Given the description of an element on the screen output the (x, y) to click on. 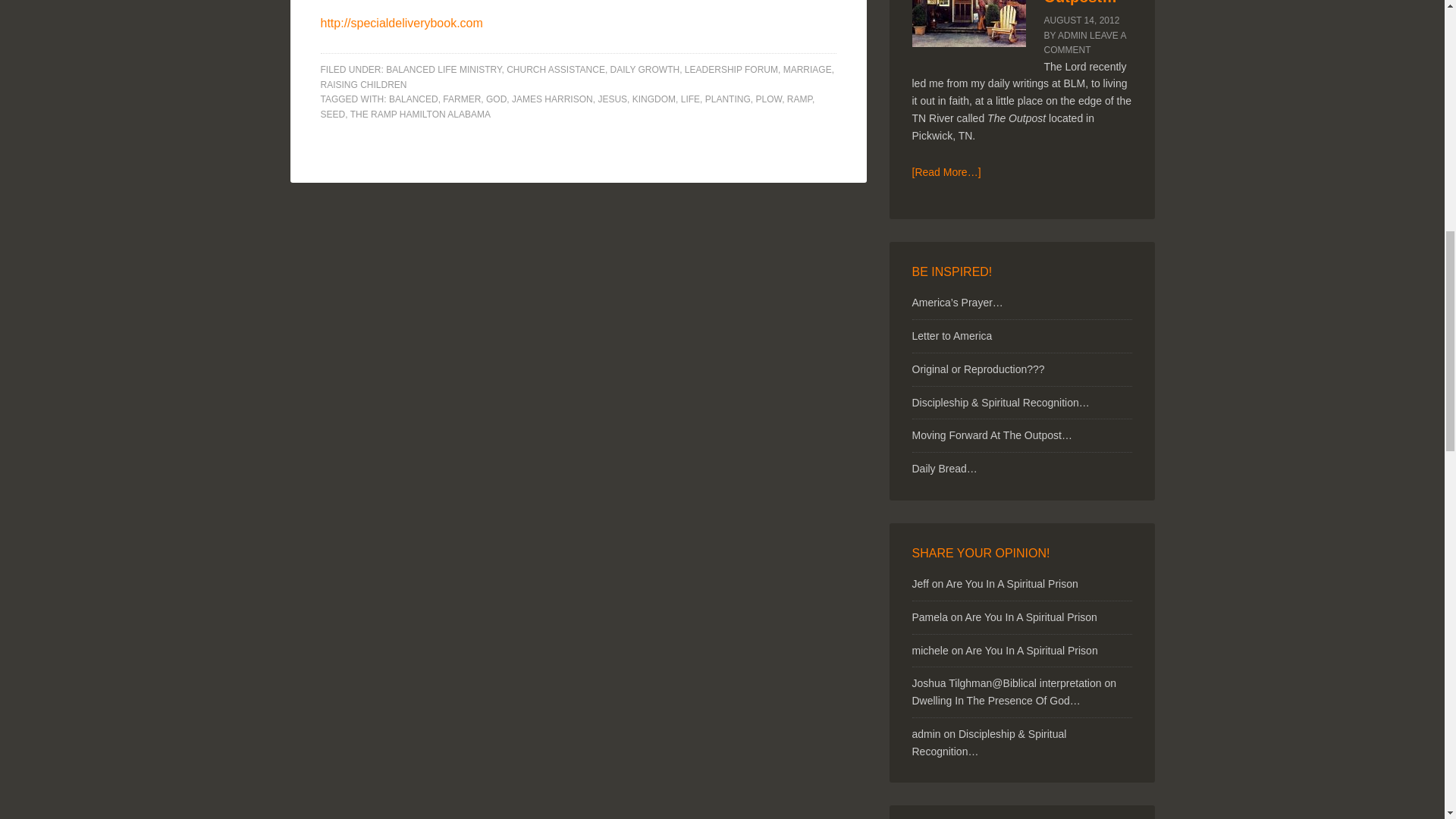
BALANCED LIFE MINISTRY (442, 69)
